Given the description of an element on the screen output the (x, y) to click on. 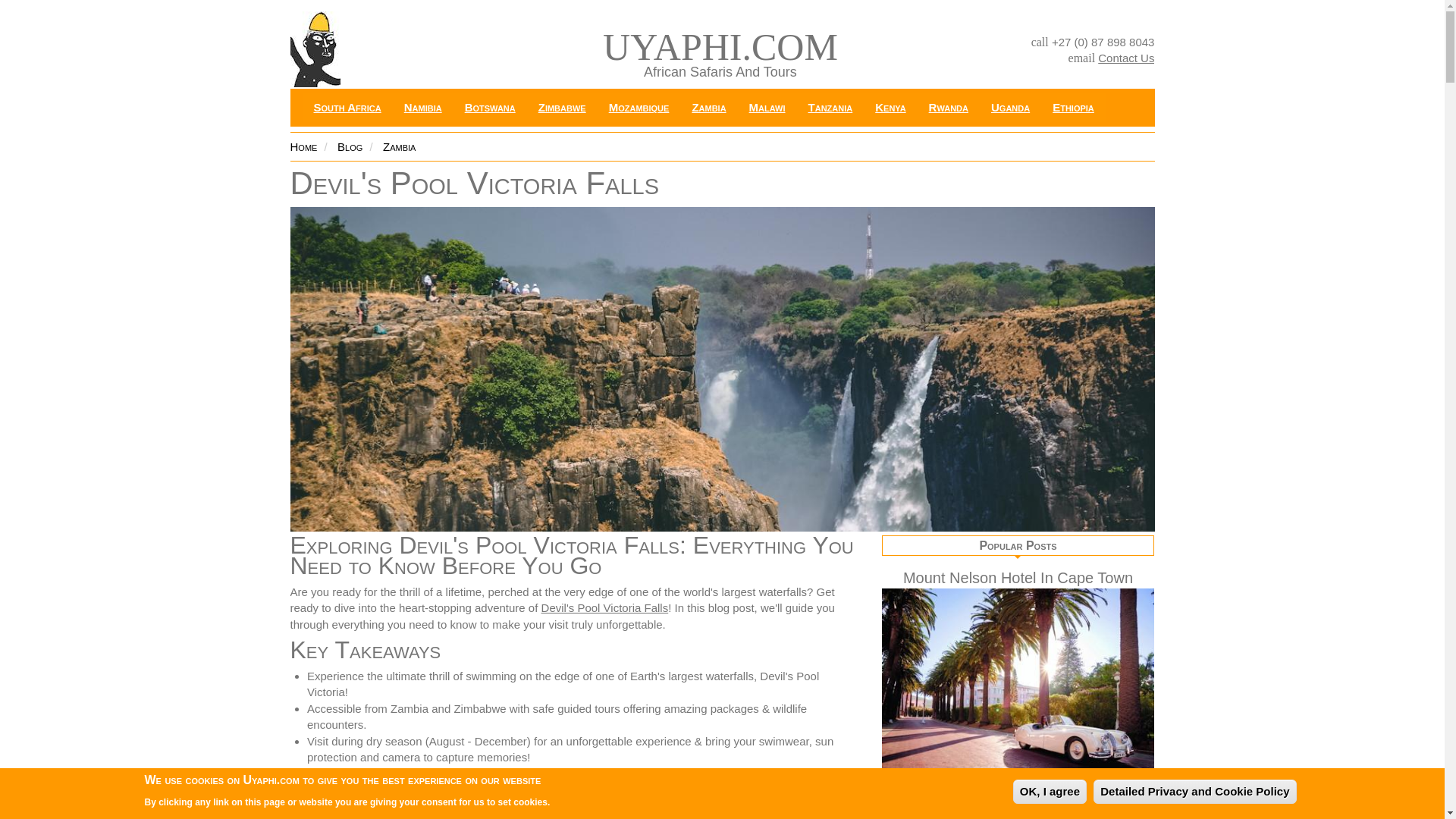
Namibia (422, 107)
Mozambique (638, 107)
Devil's Pool Victoria Falls (604, 607)
Home (303, 146)
Uganda (1010, 107)
African Safari Planner (1125, 57)
Uganda (1010, 107)
Blog (349, 146)
Namibia (422, 107)
South Africa (346, 107)
Zambia (398, 146)
Ethiopia (1073, 107)
Rwanda (948, 107)
Zambia (707, 107)
Zambia (707, 107)
